Given the description of an element on the screen output the (x, y) to click on. 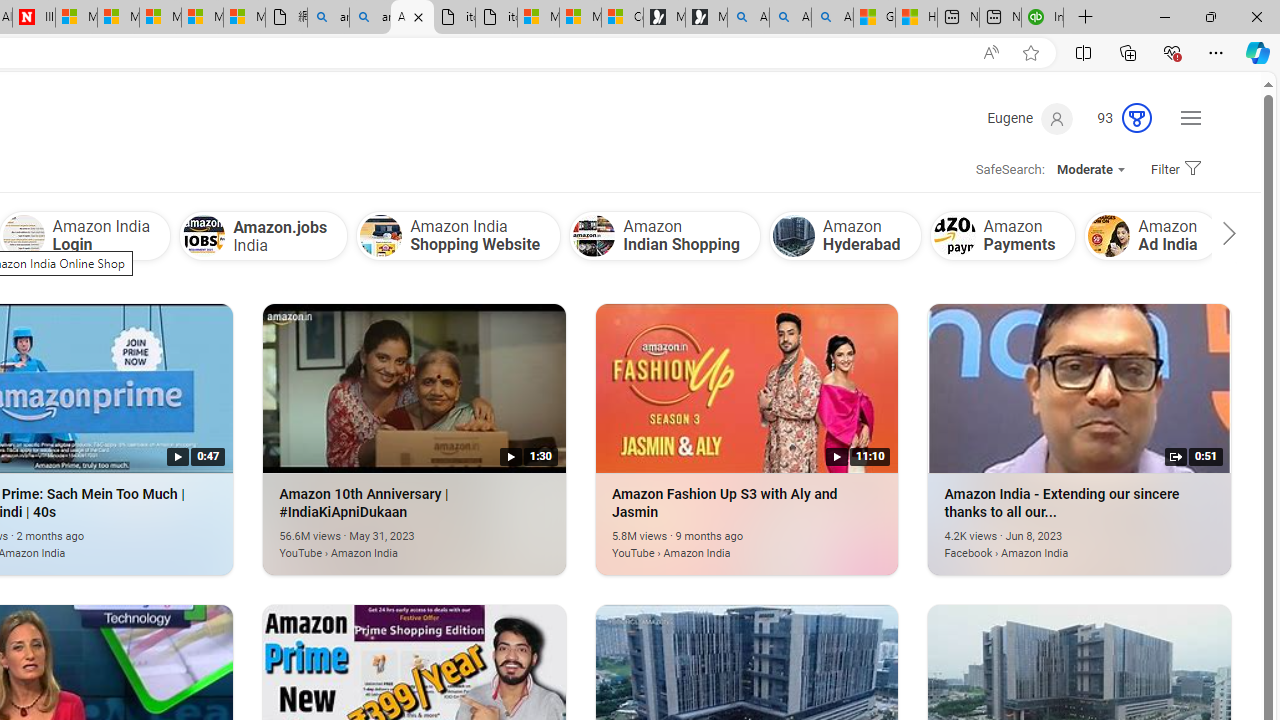
Amazon India Login (23, 236)
SafeSearch: (1003, 169)
Amazon India Shopping Website (458, 235)
Consumer Health Data Privacy Policy (621, 17)
Class: item col (1151, 235)
Amazon Payments (954, 236)
Moderate (1090, 169)
amazon - Search (328, 17)
AutomationID: rh_meter (1137, 117)
